Given the description of an element on the screen output the (x, y) to click on. 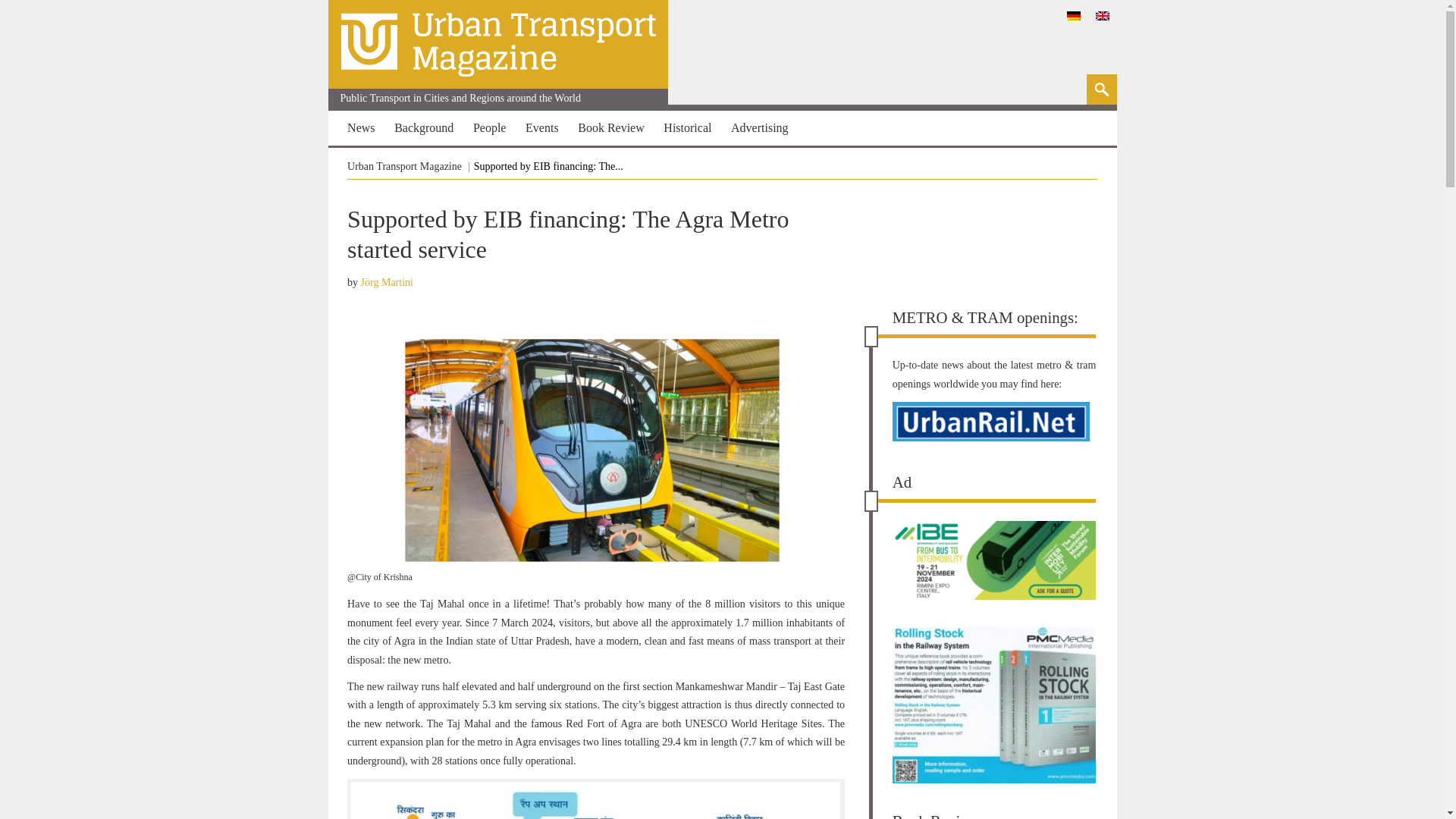
Events (541, 127)
Background (423, 127)
Urban Transport Magazine (404, 166)
Supported by EIB financing: The... (548, 166)
News (360, 127)
Historical (687, 127)
Supported by EIB financing: The Agra Metro started service (548, 166)
Book Review (610, 127)
People (489, 127)
